Given the description of an element on the screen output the (x, y) to click on. 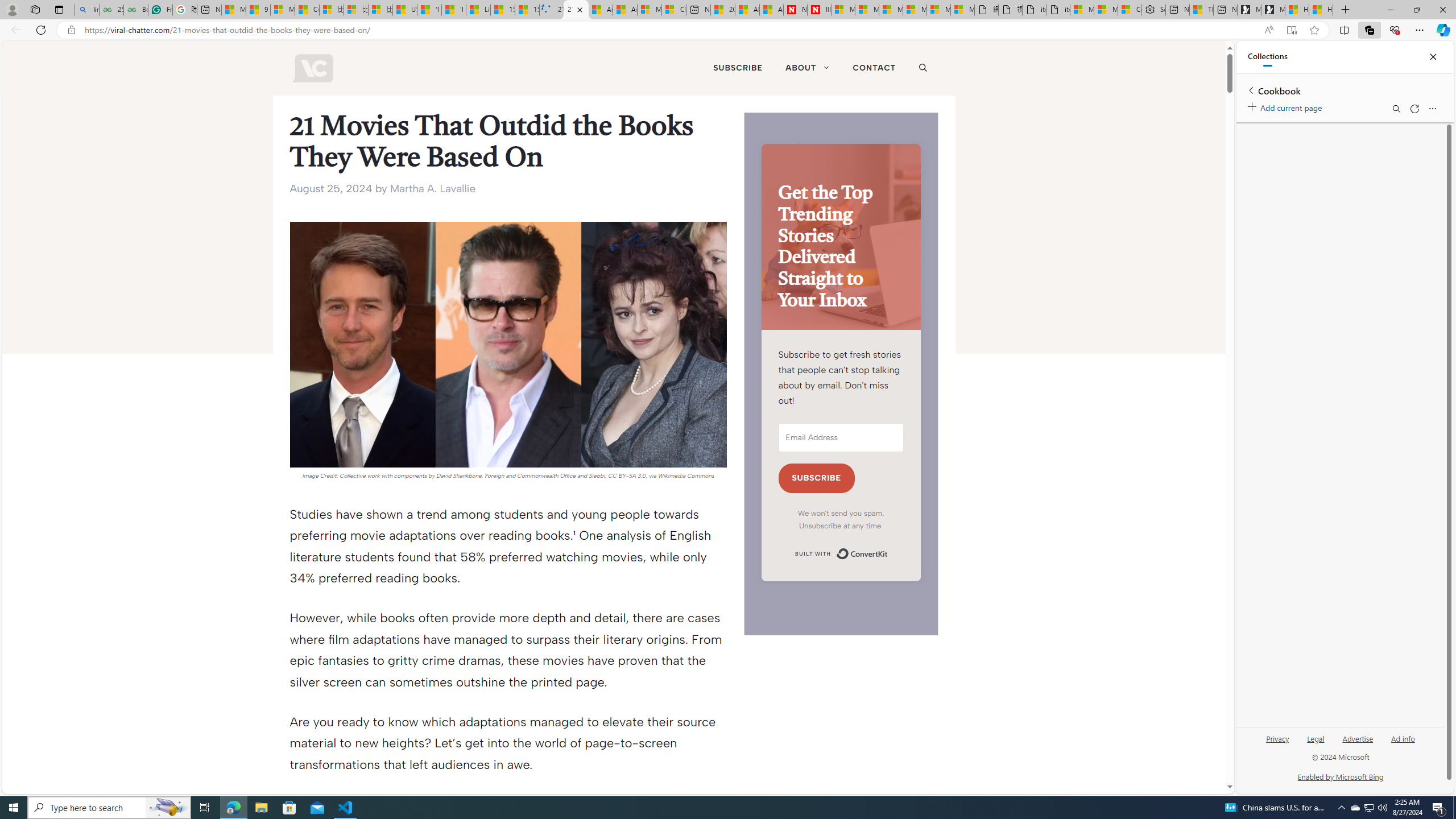
Cloud Computing Services | Microsoft Azure (673, 9)
CONTACT (874, 67)
SUBSCRIBE (737, 67)
Microsoft Services Agreement (866, 9)
CONTACT (874, 67)
Enter Immersive Reader (F9) (1291, 29)
Add current page (1286, 105)
itconcepthk.com/projector_solutions.mp4 (1057, 9)
